Given the description of an element on the screen output the (x, y) to click on. 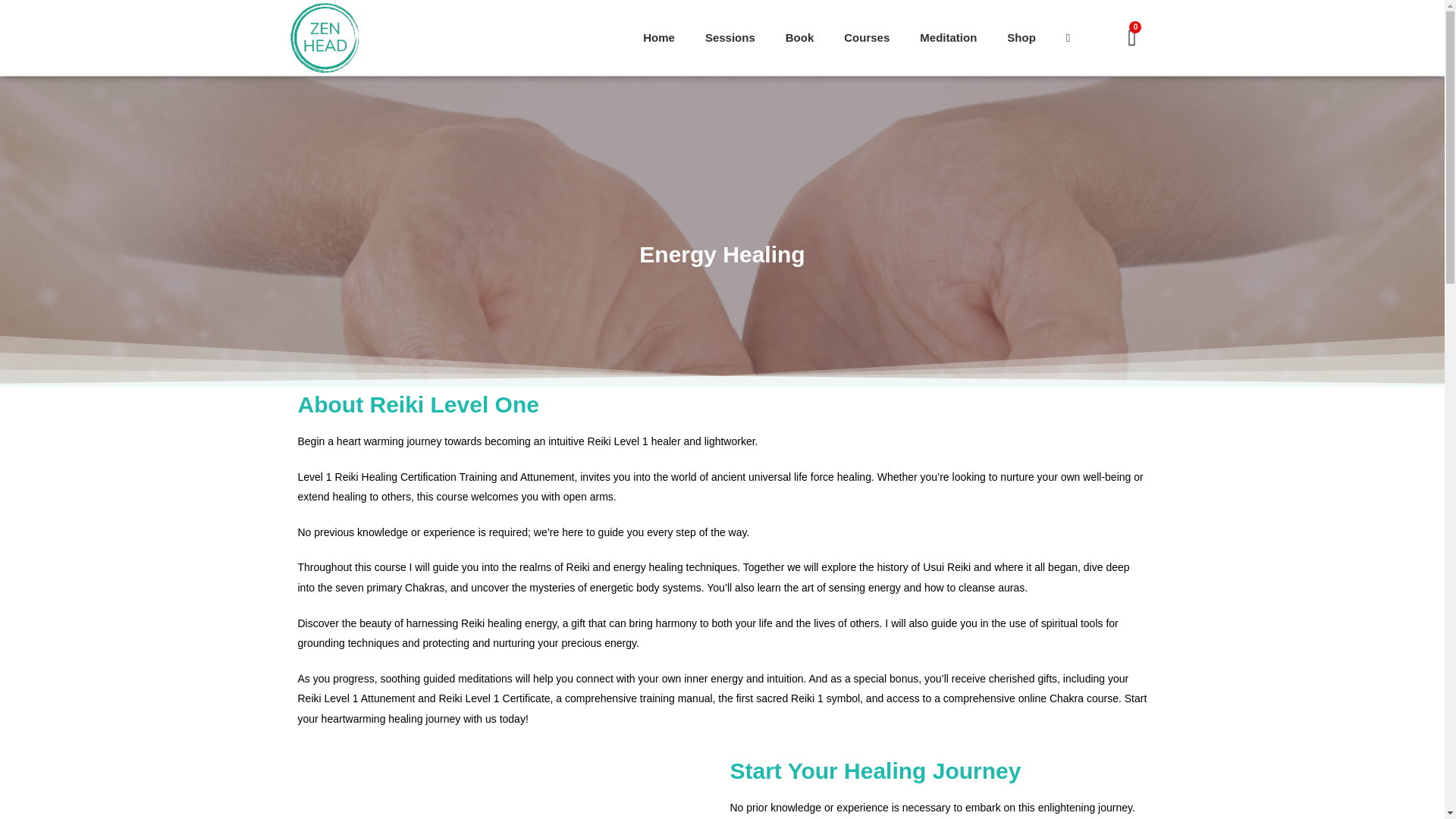
Courses (866, 38)
Sessions (730, 38)
Meditation (947, 38)
